Given the description of an element on the screen output the (x, y) to click on. 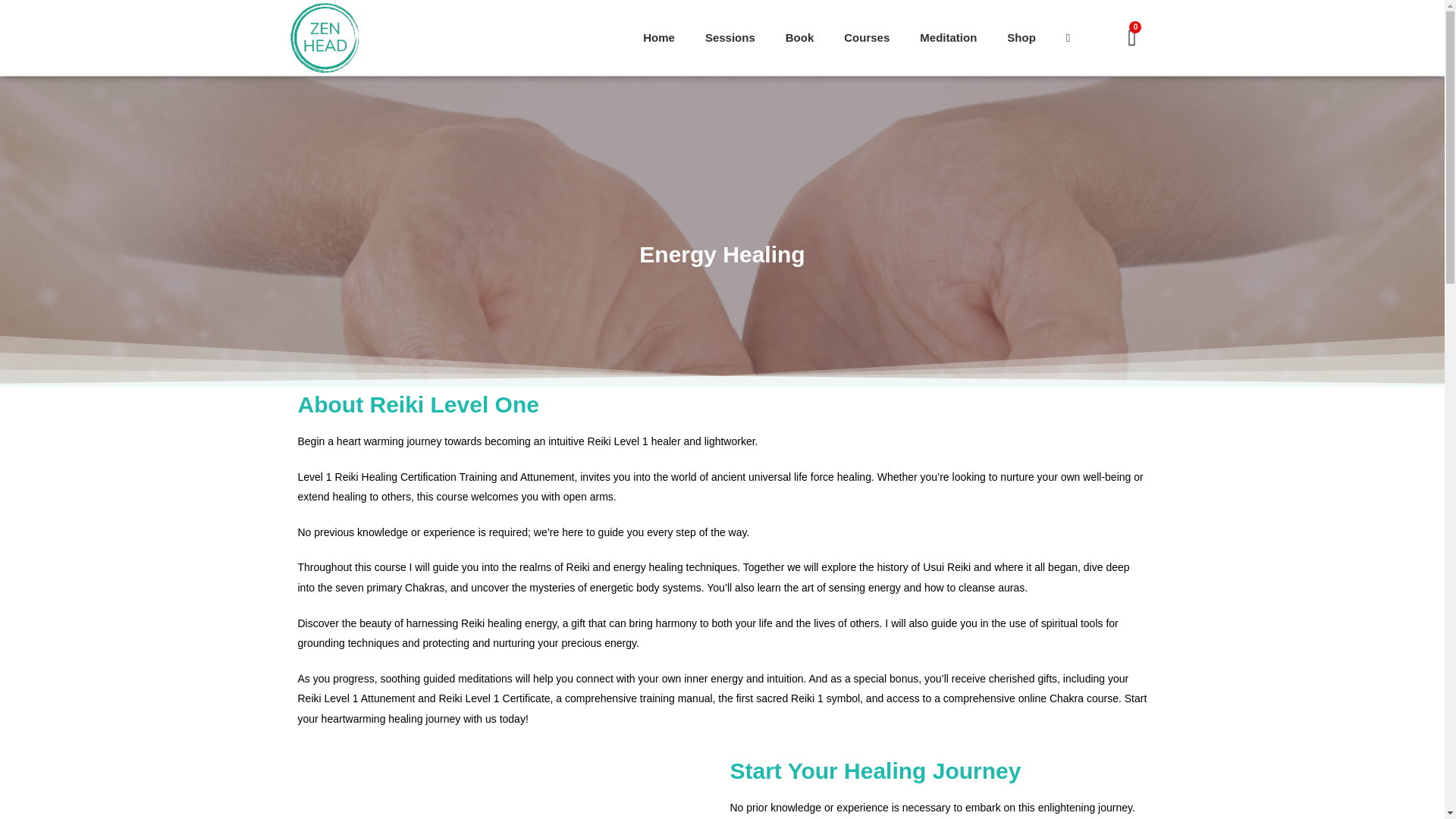
Courses (866, 38)
Sessions (730, 38)
Meditation (947, 38)
